Given the description of an element on the screen output the (x, y) to click on. 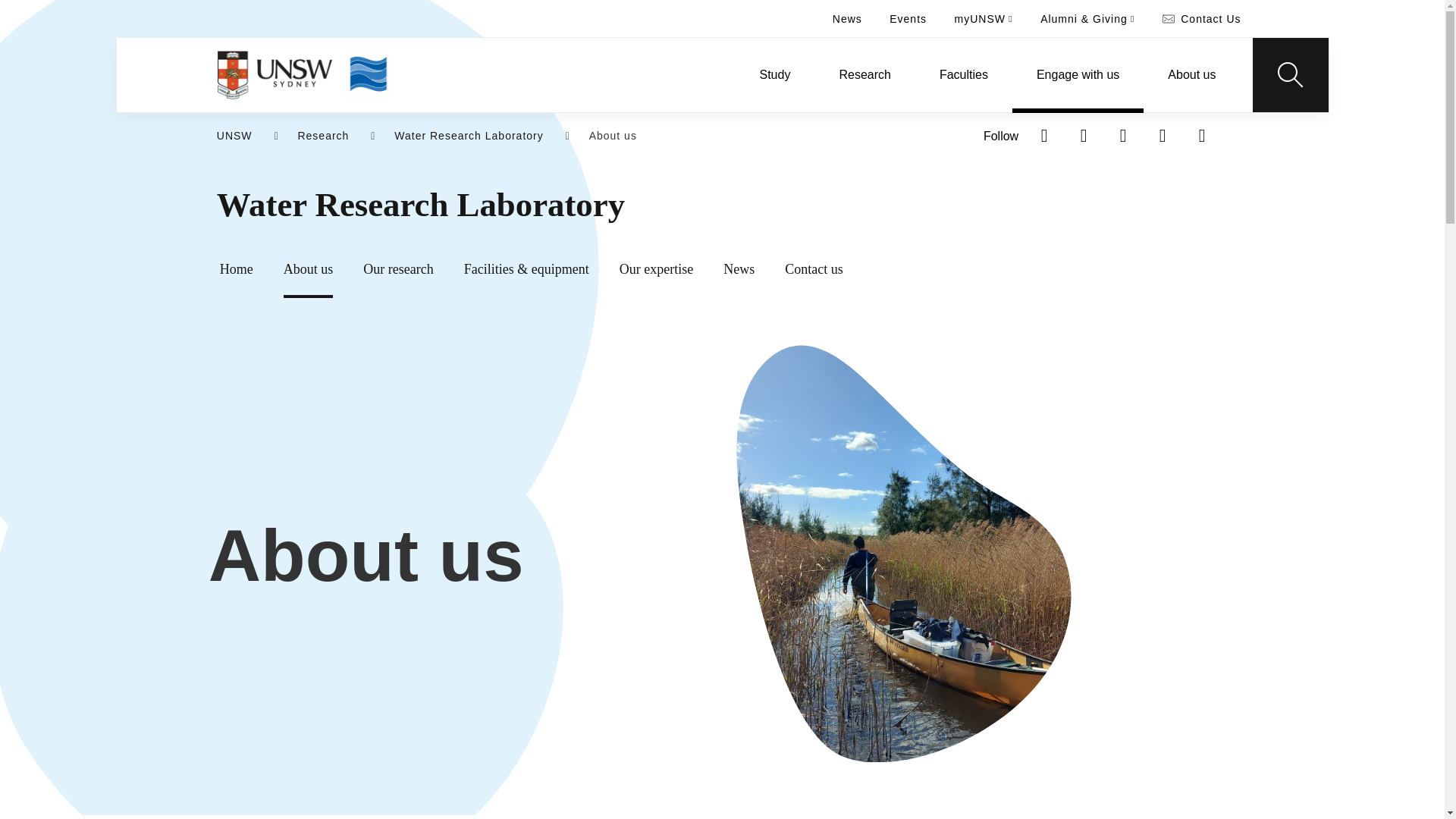
UNSW (233, 135)
Follow (1000, 136)
Research (323, 135)
About us (1191, 74)
Home (273, 74)
myUNSW (983, 18)
Research (863, 74)
News (848, 18)
Water Research Laboratory (772, 204)
Contact Us (1201, 18)
